Given the description of an element on the screen output the (x, y) to click on. 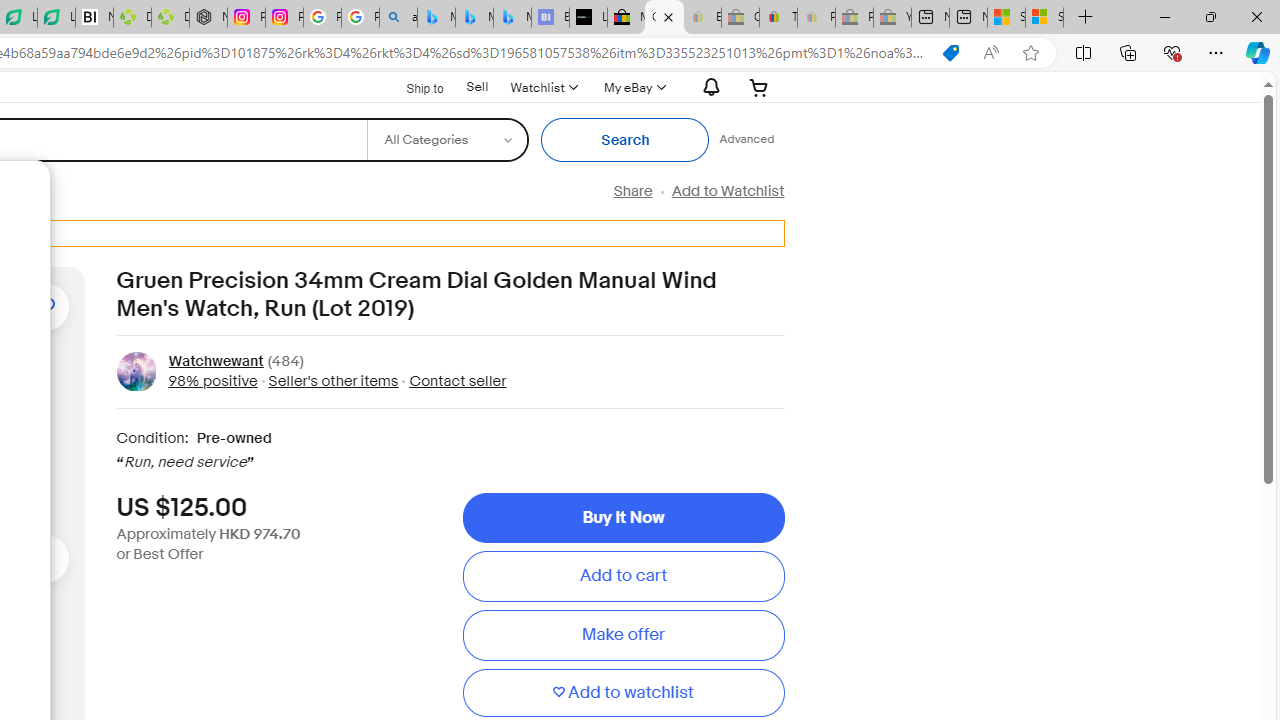
Class: ux-action (136, 371)
Shanghai, China hourly forecast | Microsoft Weather (1006, 17)
Make offer (623, 635)
Threats and offensive language policy | eBay (778, 17)
Microsoft Bing Travel - Shangri-La Hotel Bangkok (512, 17)
